Given the description of an element on the screen output the (x, y) to click on. 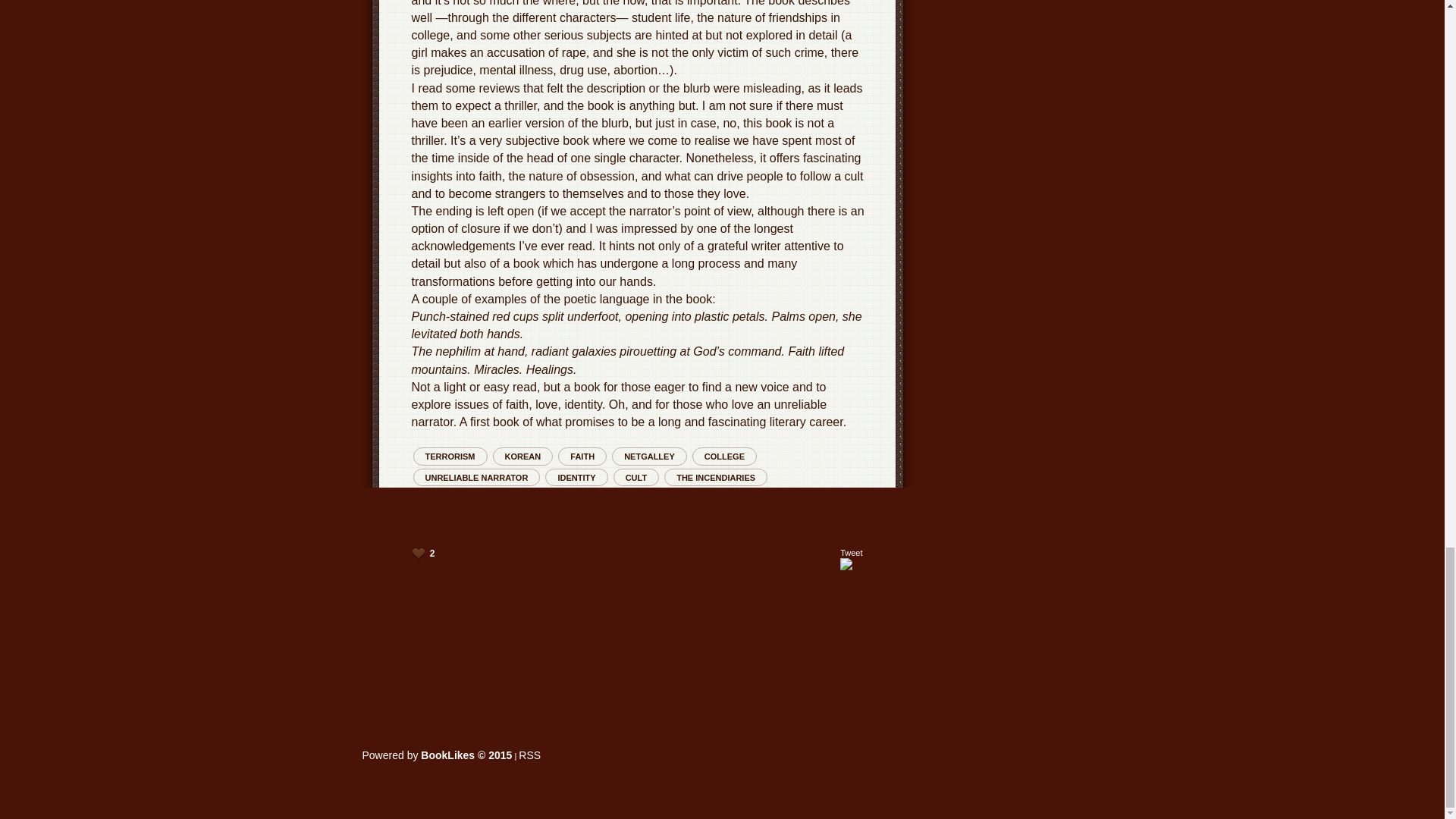
BookLikes (529, 755)
RSS (529, 755)
UNRELIABLE NARRATOR (476, 476)
TERRORISM (449, 456)
FAITH (582, 456)
IDENTITY (575, 476)
KOREAN (523, 456)
NETGALLEY (649, 456)
CULT (635, 476)
BookLikes (437, 755)
THE INCENDIARIES (715, 476)
Tweet (850, 552)
COLLEGE (725, 456)
